Given the description of an element on the screen output the (x, y) to click on. 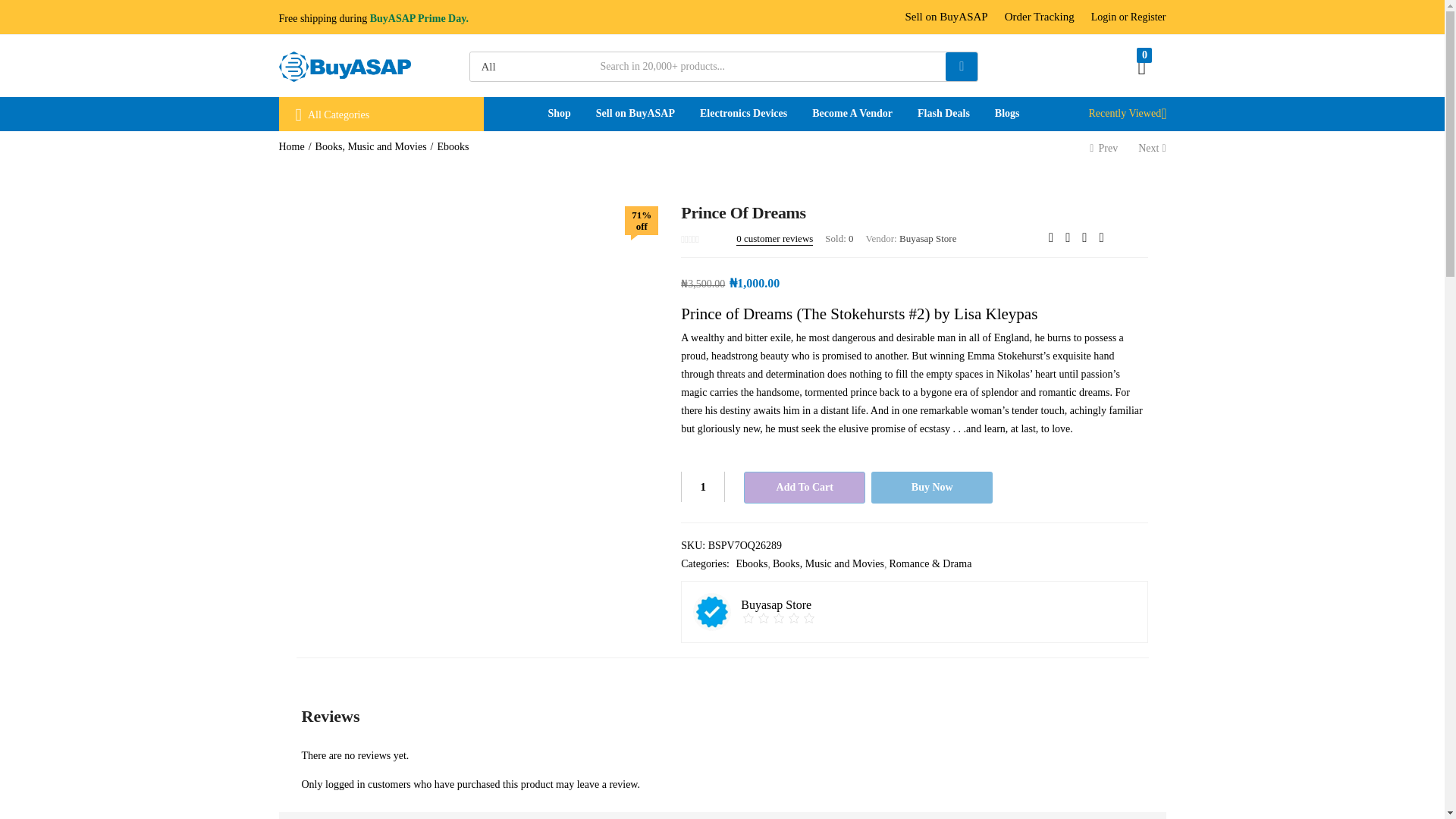
Sell on BuyASAP (945, 16)
Order Tracking (1039, 16)
Login or Register (1128, 17)
1 (703, 486)
